Given the description of an element on the screen output the (x, y) to click on. 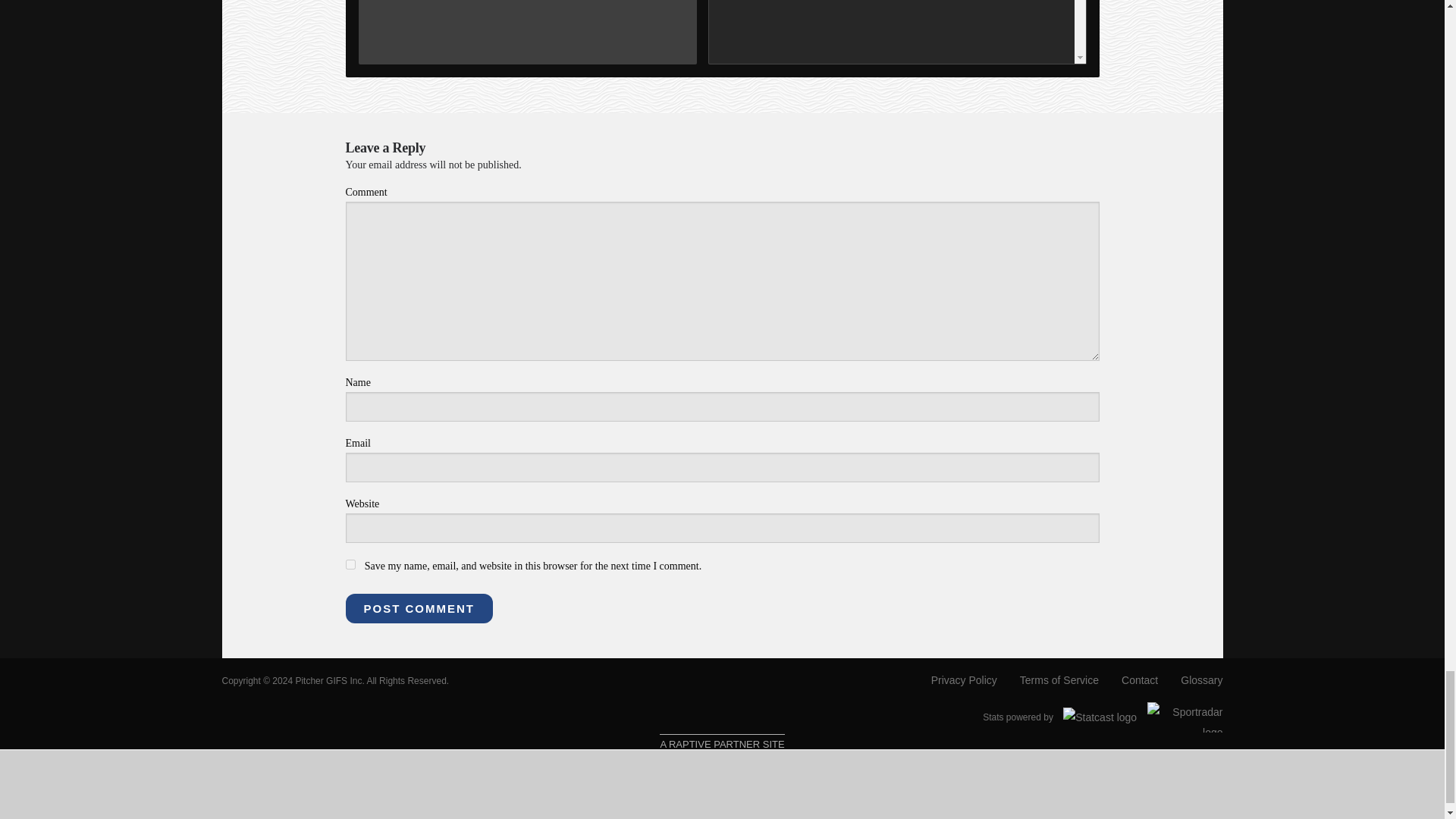
yes (350, 564)
Post Comment (419, 608)
